Given the description of an element on the screen output the (x, y) to click on. 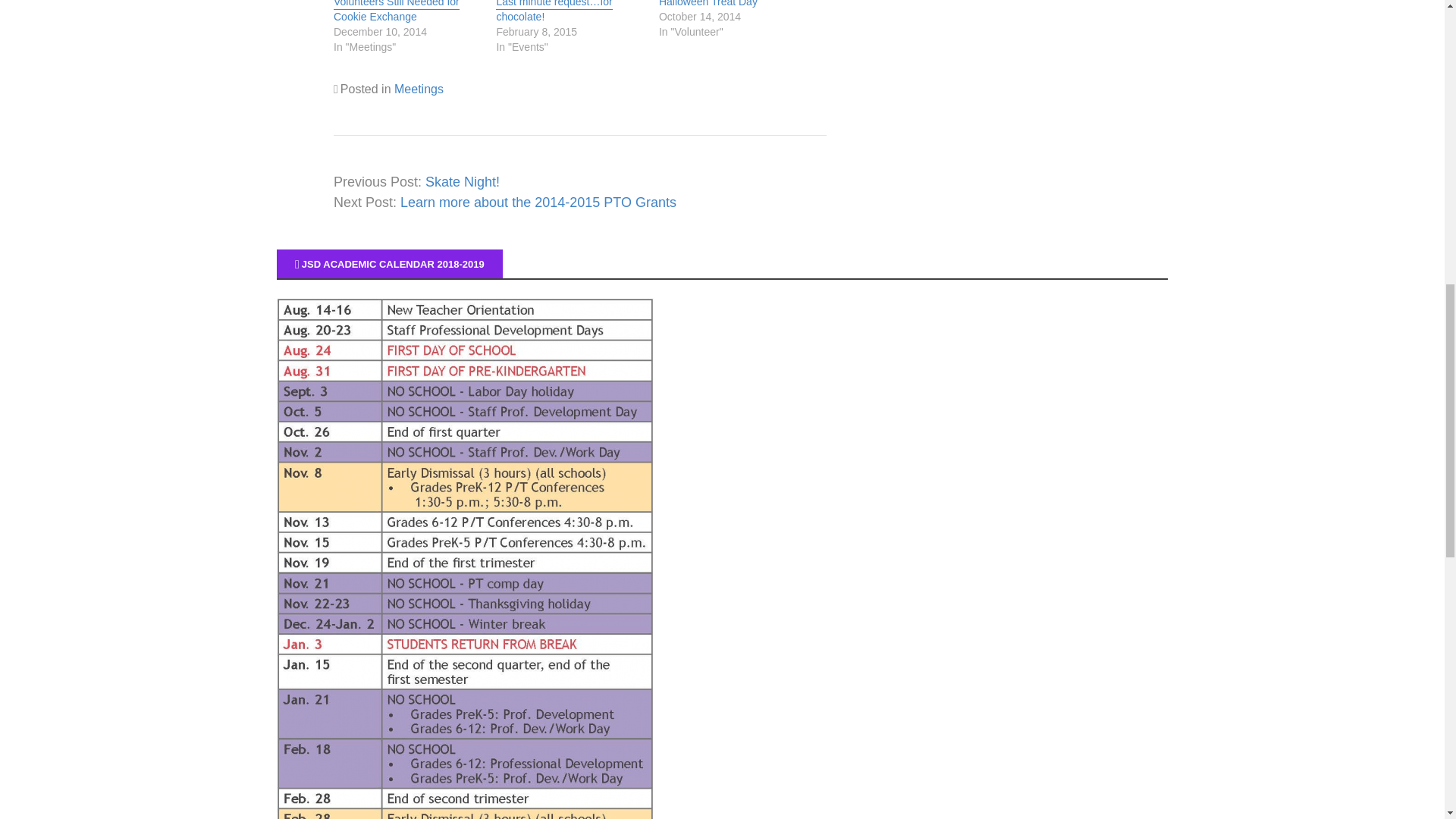
Halloween Treat Day (708, 4)
Volunteers Still Needed for Cookie Exchange (396, 12)
Halloween Treat Day (708, 4)
Volunteers Still Needed for Cookie Exchange (396, 12)
